Given the description of an element on the screen output the (x, y) to click on. 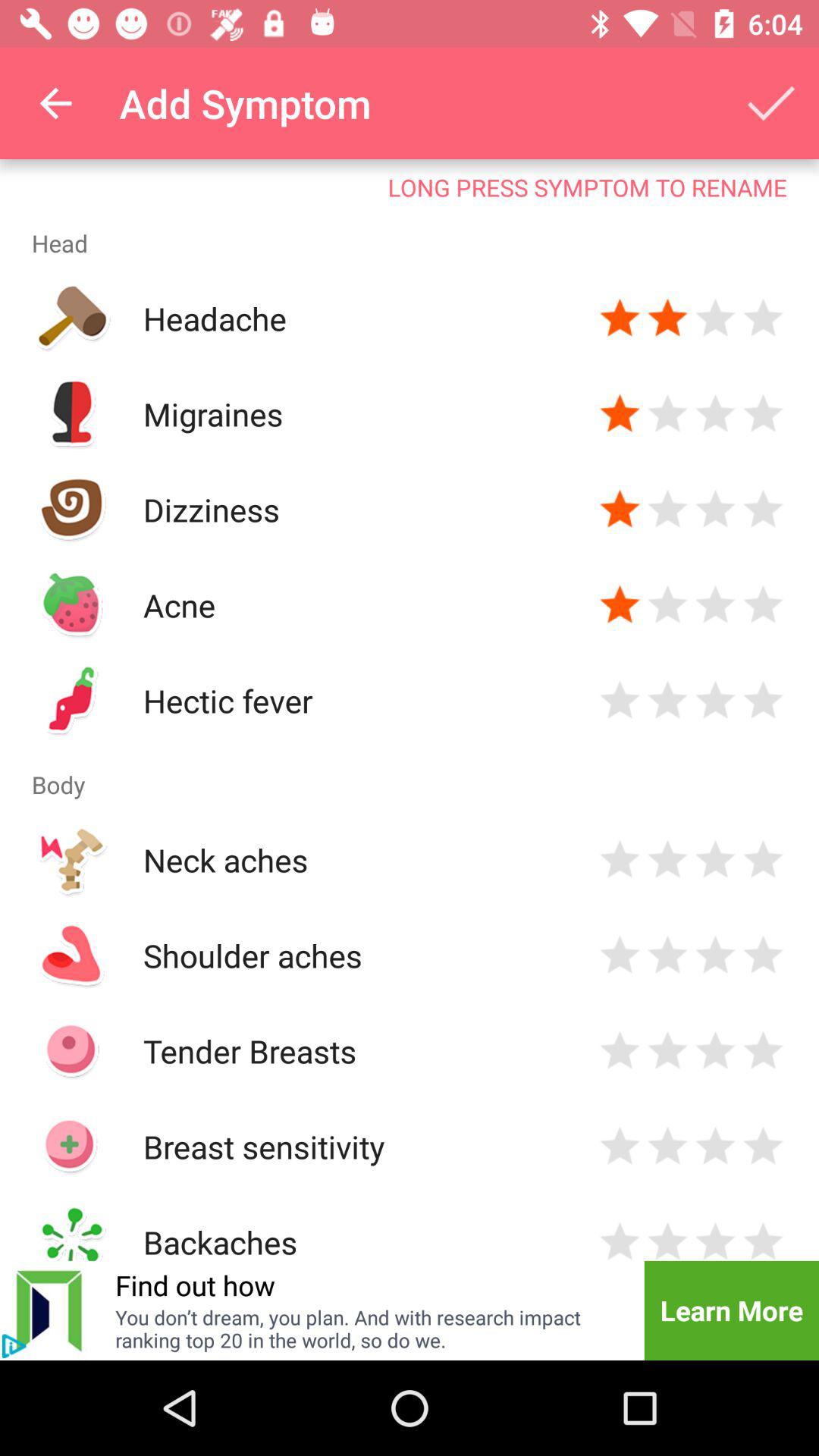
rate 2 stars (667, 1239)
